Given the description of an element on the screen output the (x, y) to click on. 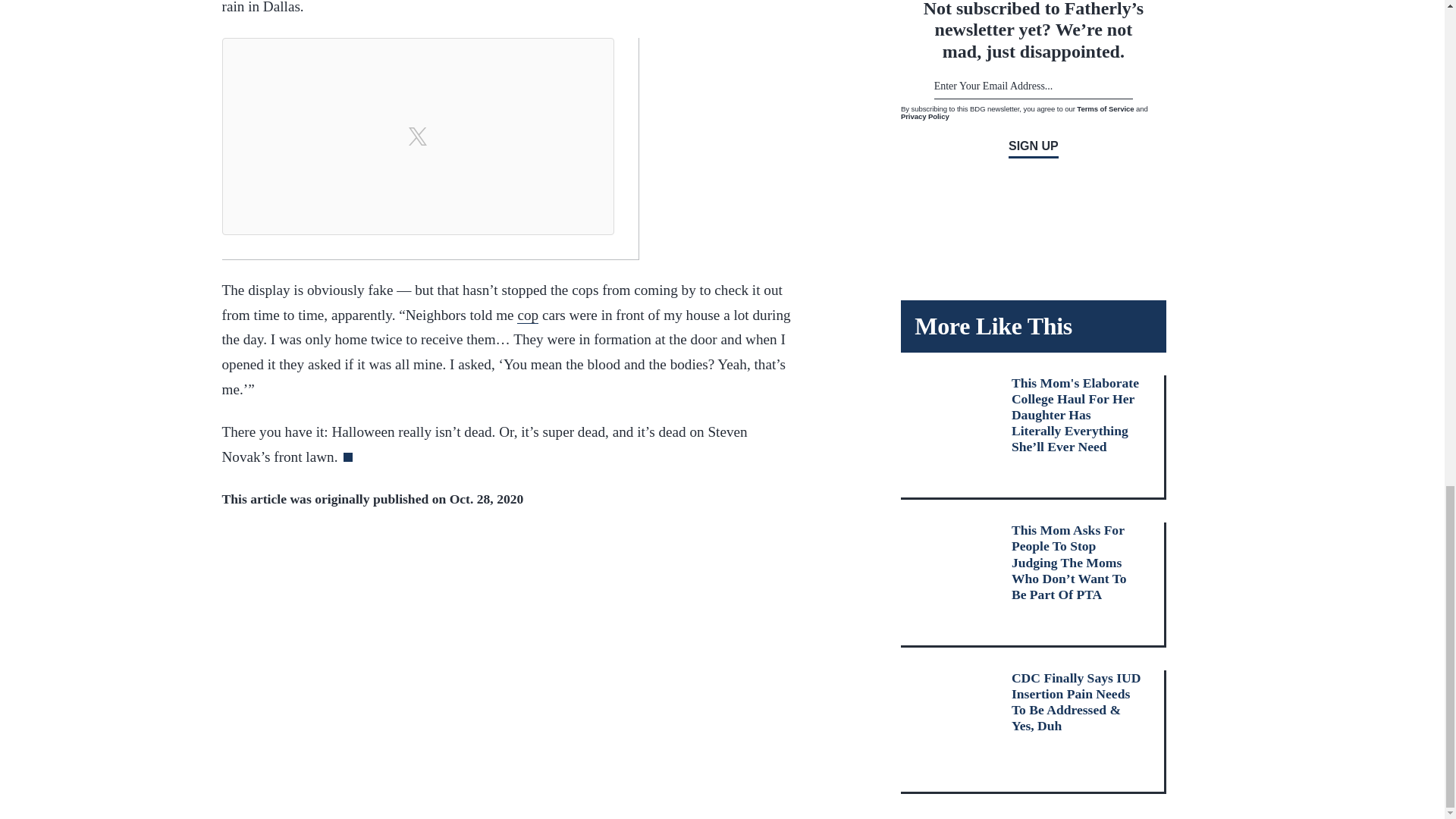
SIGN UP (1033, 148)
cop (527, 315)
Privacy Policy (925, 116)
Terms of Service (1105, 108)
